Given the description of an element on the screen output the (x, y) to click on. 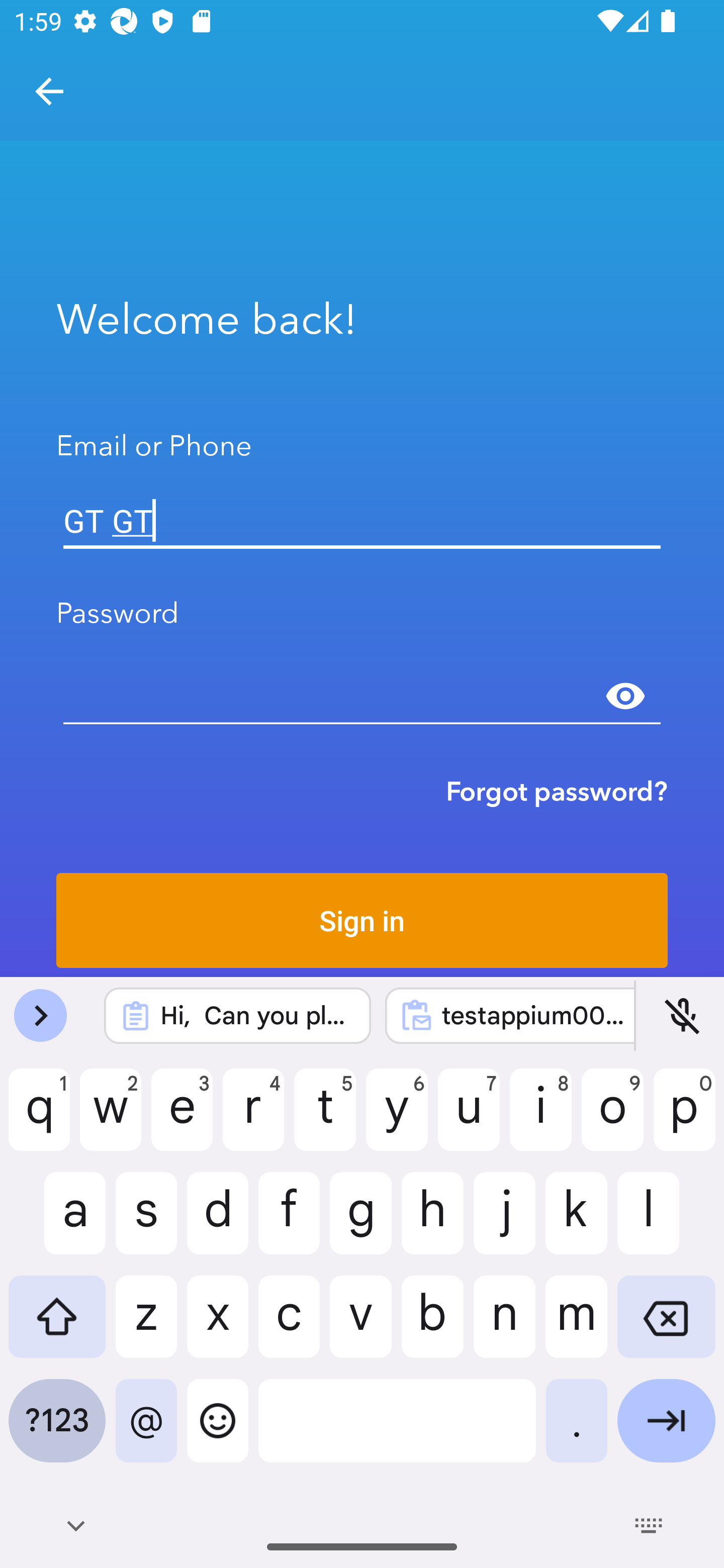
Navigate up (49, 91)
GT GT (361, 521)
Show password (625, 695)
Forgot password? (556, 790)
Sign in (361, 920)
